Given the description of an element on the screen output the (x, y) to click on. 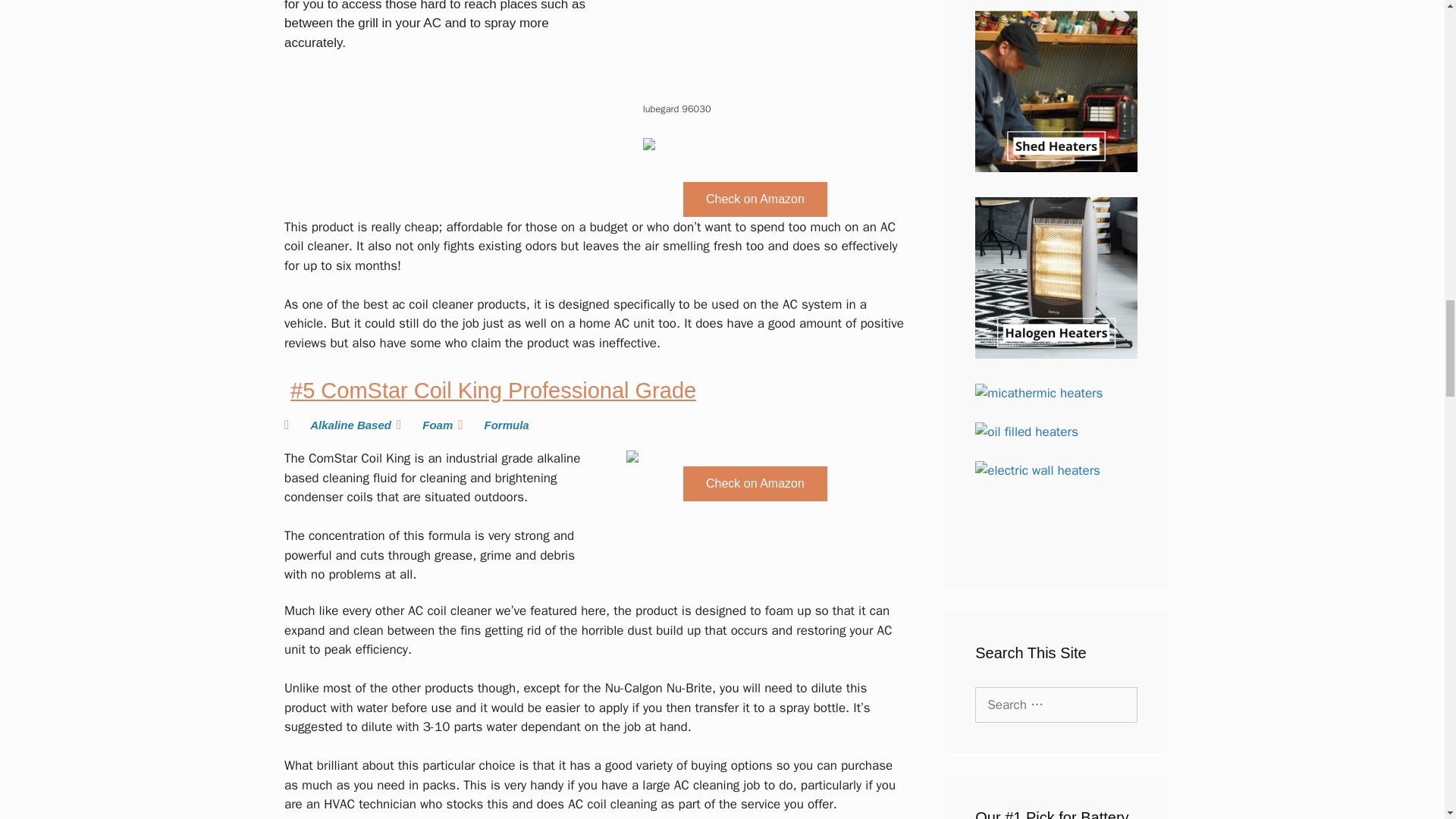
Search for: (1056, 705)
